Given the description of an element on the screen output the (x, y) to click on. 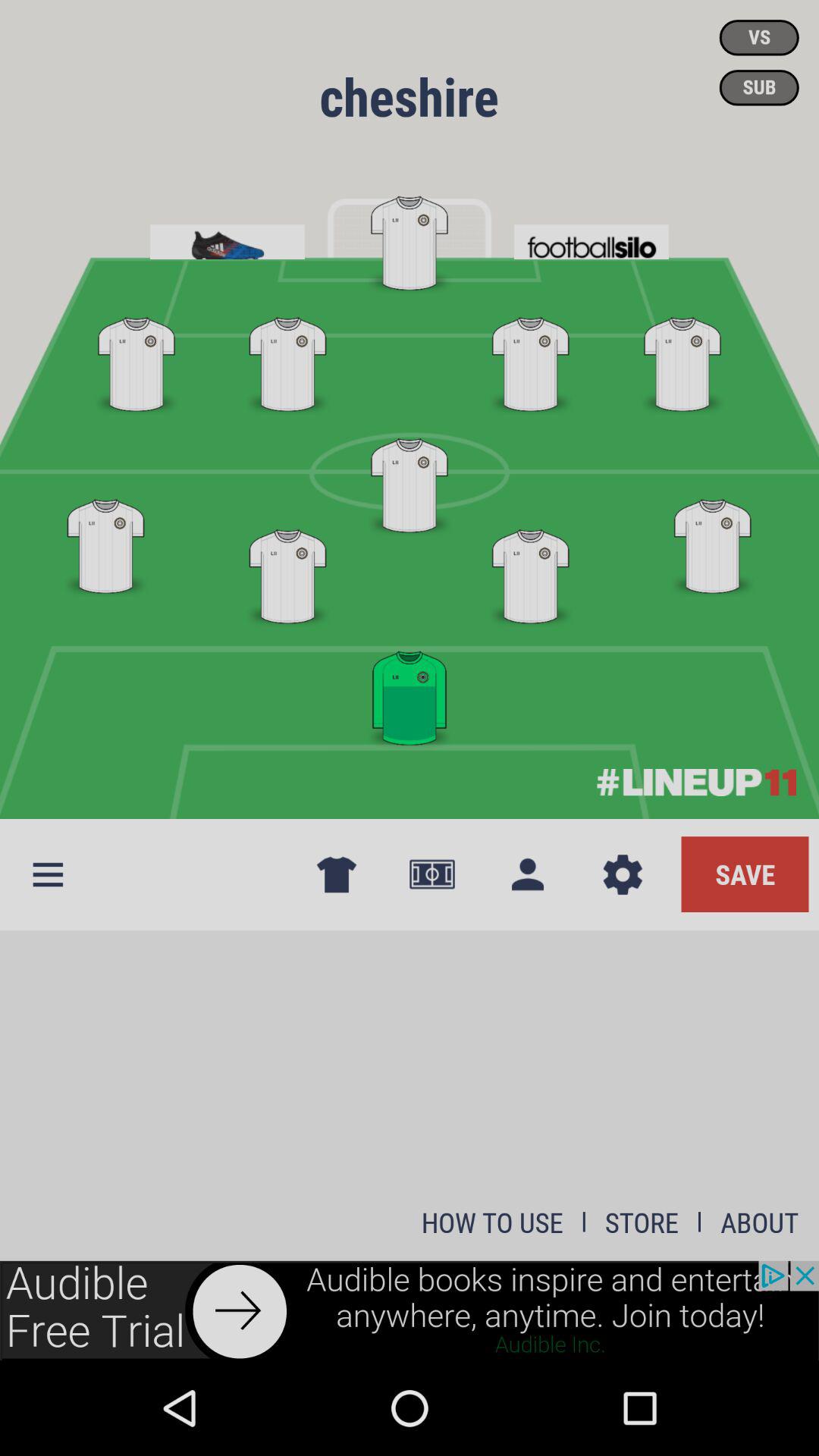
select the first white shirt which is left to green shirt (288, 569)
improper tagging (409, 240)
shoe icon on the top left (226, 236)
tshirt icon next to options button (336, 875)
tap on the option named as how to use (492, 1221)
click on the icon which is to the left side of the contact icon (431, 875)
